Given the description of an element on the screen output the (x, y) to click on. 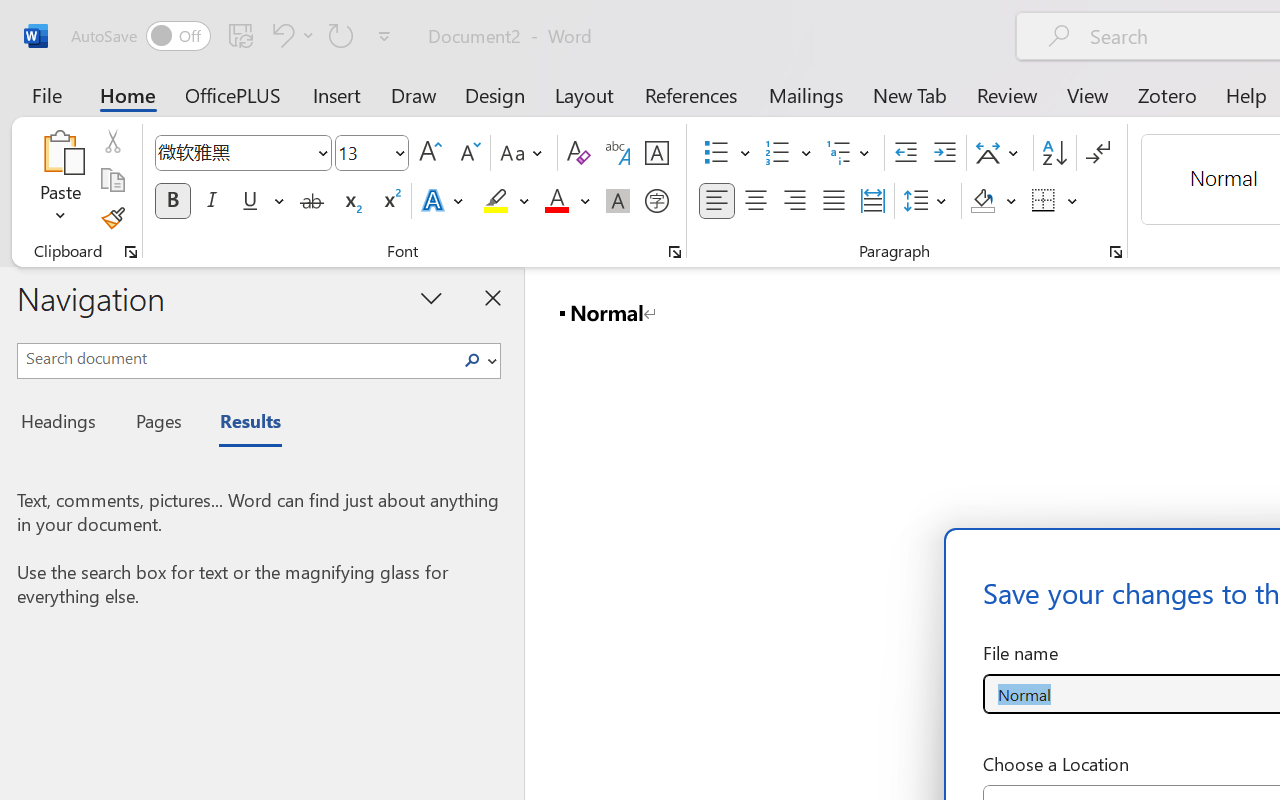
Search (471, 360)
Align Left (716, 201)
Center (756, 201)
Multilevel List (850, 153)
Text Highlight Color (506, 201)
Font Color Red (556, 201)
Open (399, 152)
